Given the description of an element on the screen output the (x, y) to click on. 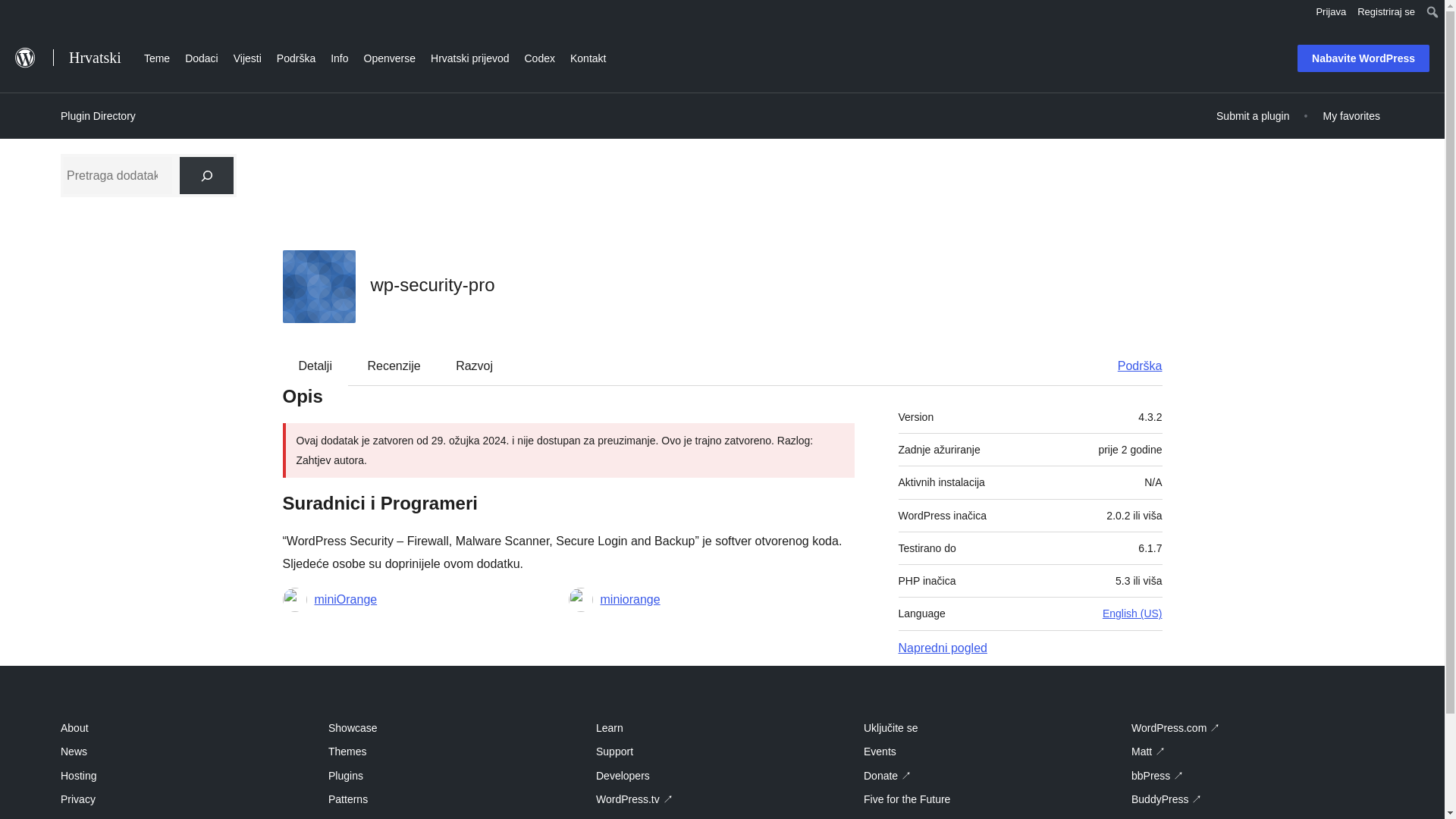
Recenzije (393, 365)
Registriraj se (1386, 12)
Openverse (389, 56)
Hrvatski prijevod (469, 56)
Detalji (315, 365)
Plugin Directory (97, 116)
Nabavite WordPress (1363, 58)
Submit a plugin (1253, 115)
Pretraga (20, 13)
Prijava (1331, 12)
My favorites (1351, 115)
Razvoj (474, 365)
